Given the description of an element on the screen output the (x, y) to click on. 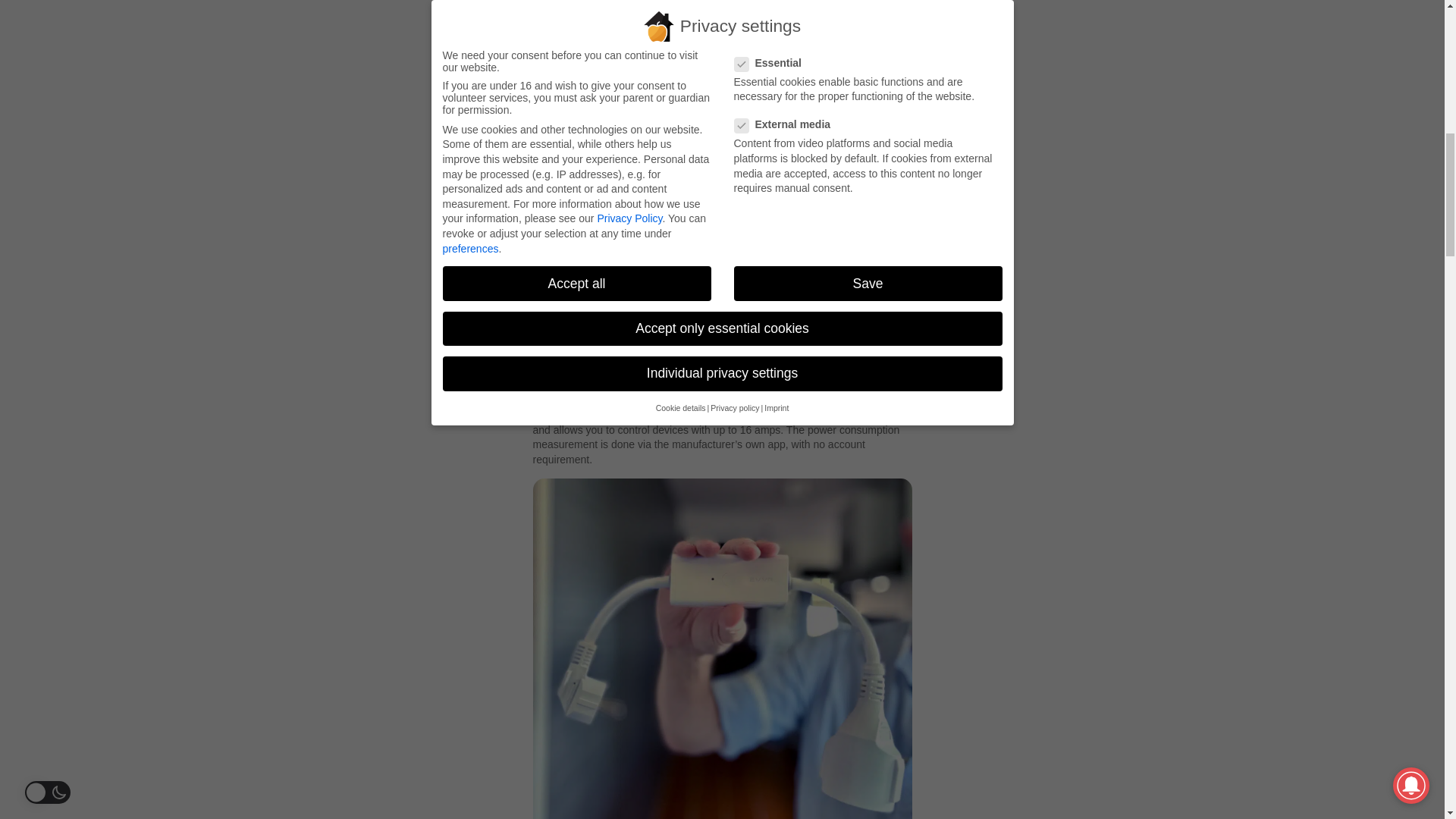
unusual design (809, 399)
